Given the description of an element on the screen output the (x, y) to click on. 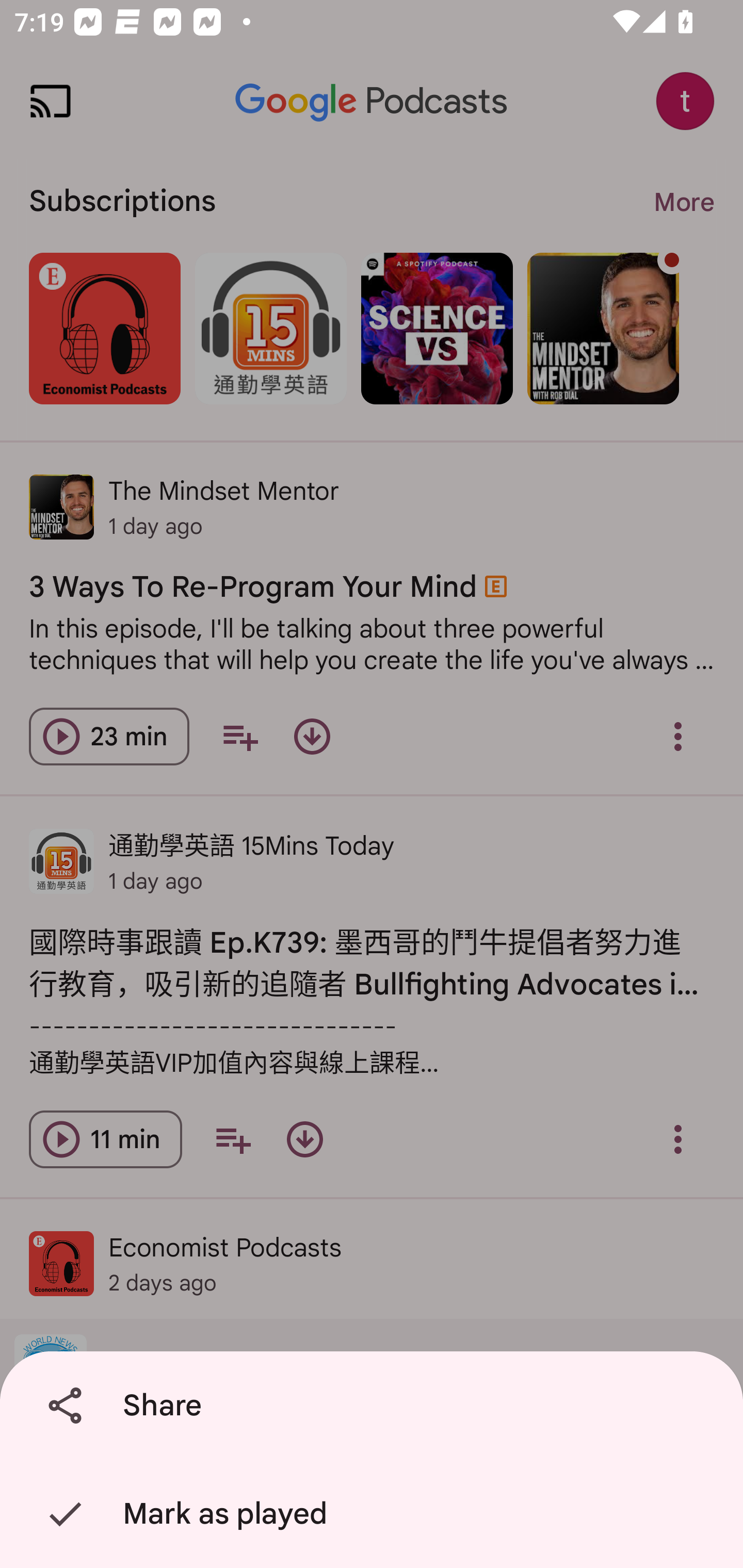
Share (375, 1405)
Mark as played (375, 1513)
